Given the description of an element on the screen output the (x, y) to click on. 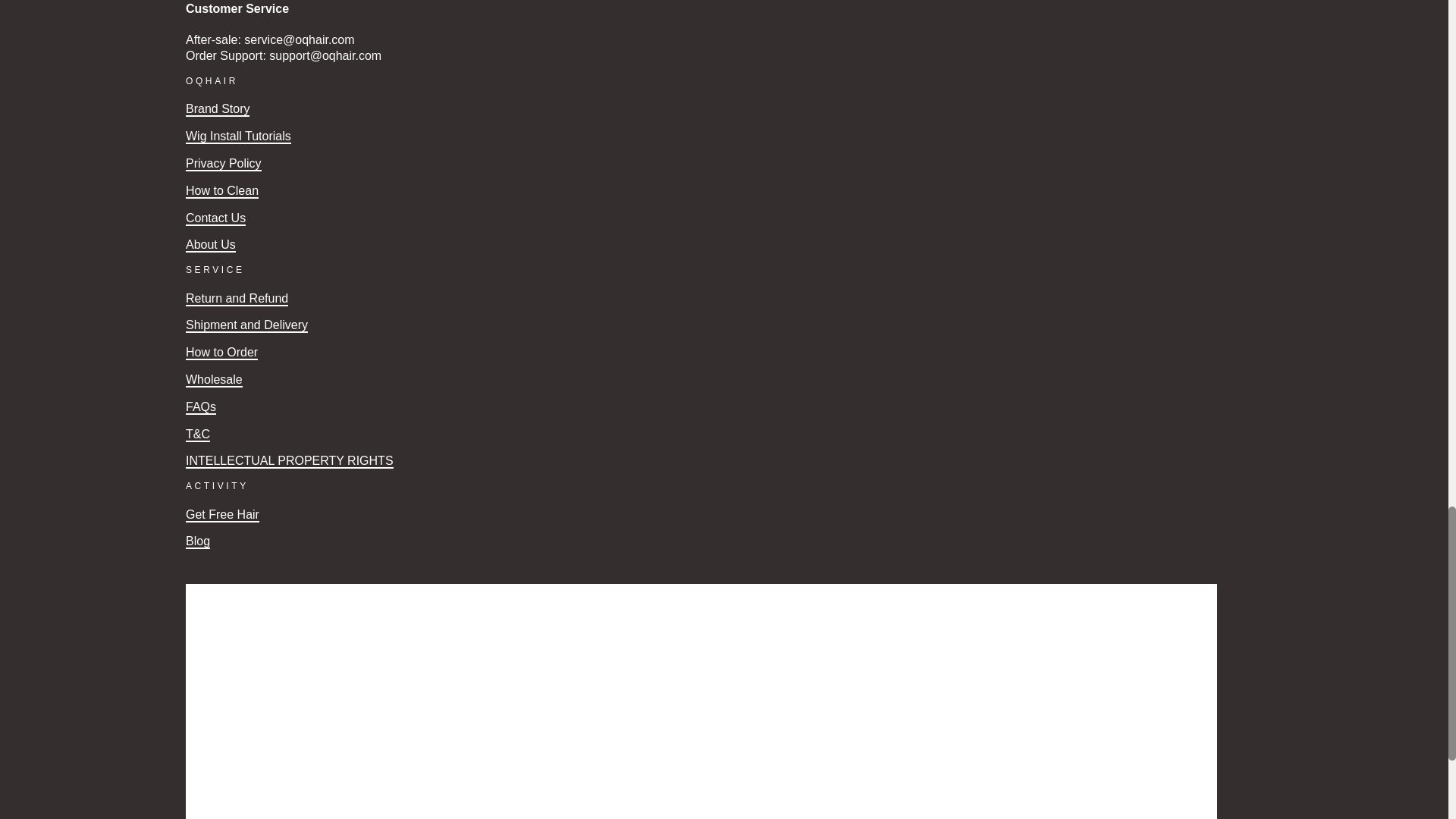
ORIGINAL QUEEN  HAIR (217, 109)
